Given the description of an element on the screen output the (x, y) to click on. 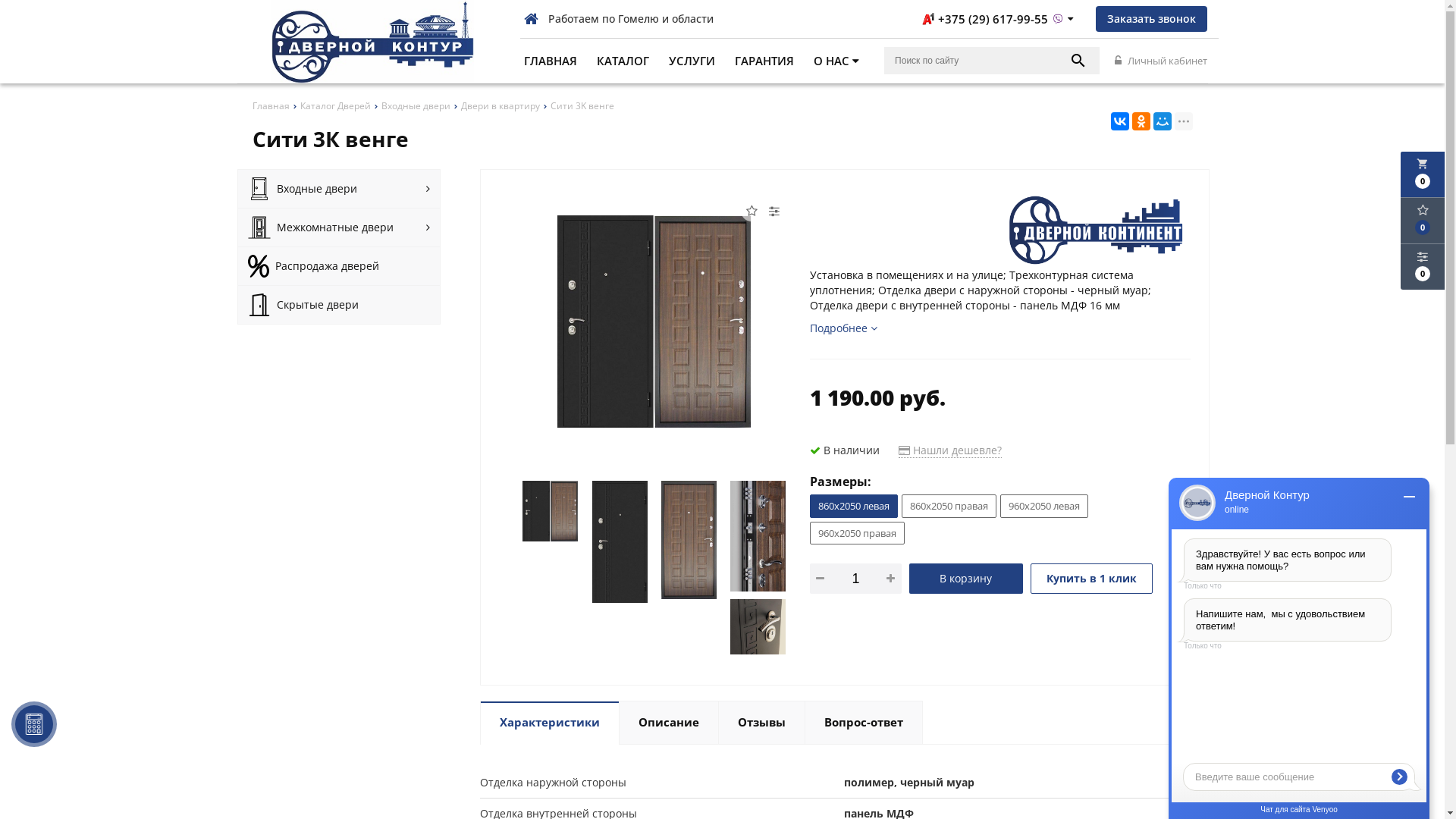
search Element type: text (1078, 60)
0 Element type: text (1422, 266)
+375 (29) 617-99-55 Element type: text (997, 18)
0 Element type: text (1422, 220)
local_grocery_store
0 Element type: text (1422, 174)
